Given the description of an element on the screen output the (x, y) to click on. 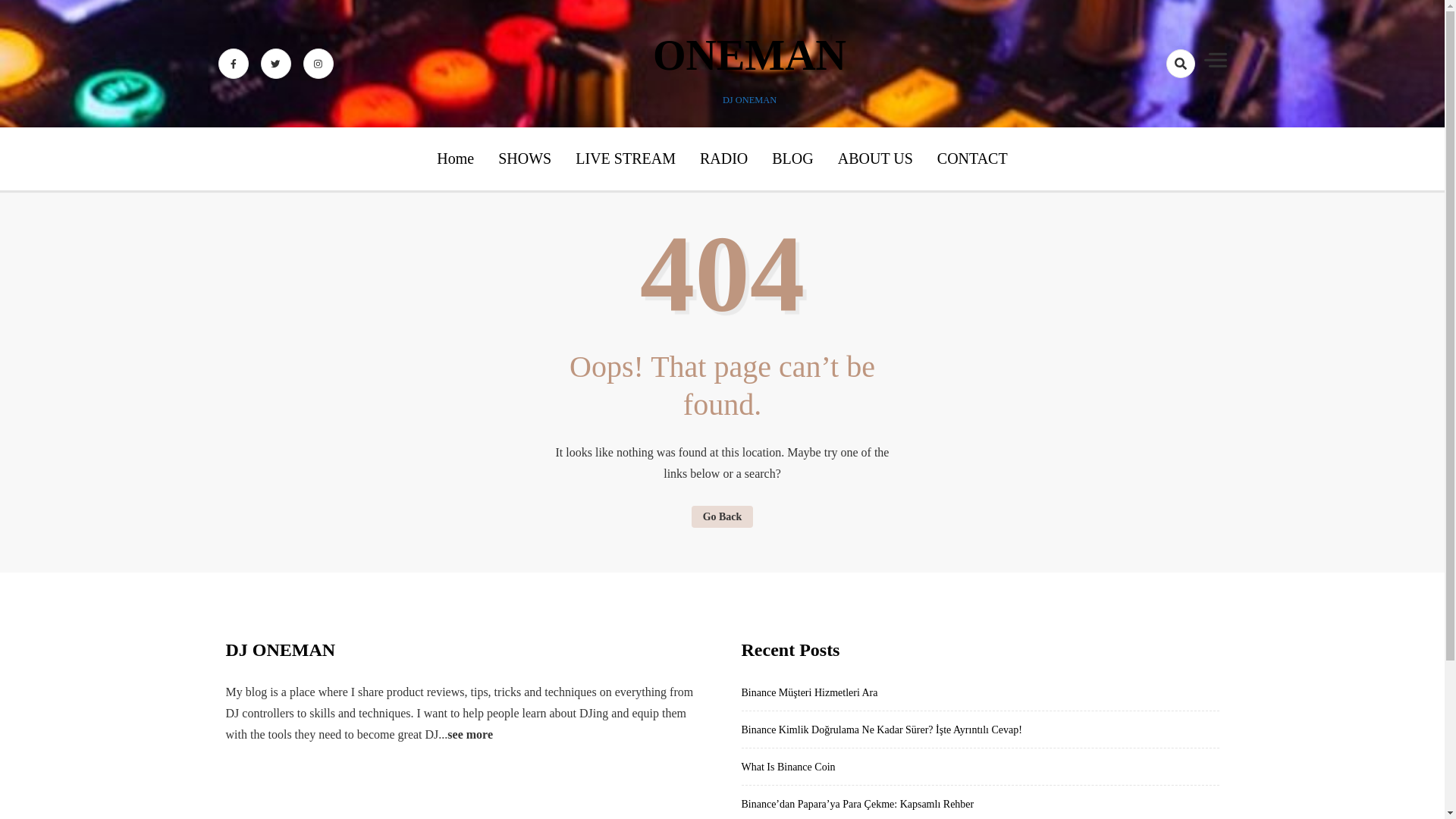
Search (1152, 117)
LIVE STREAM (625, 158)
What Is Binance Coin (788, 767)
Go Back (722, 516)
ONEMAN (748, 54)
CONTACT (972, 158)
see more (469, 734)
ABOUT US (875, 158)
